Given the description of an element on the screen output the (x, y) to click on. 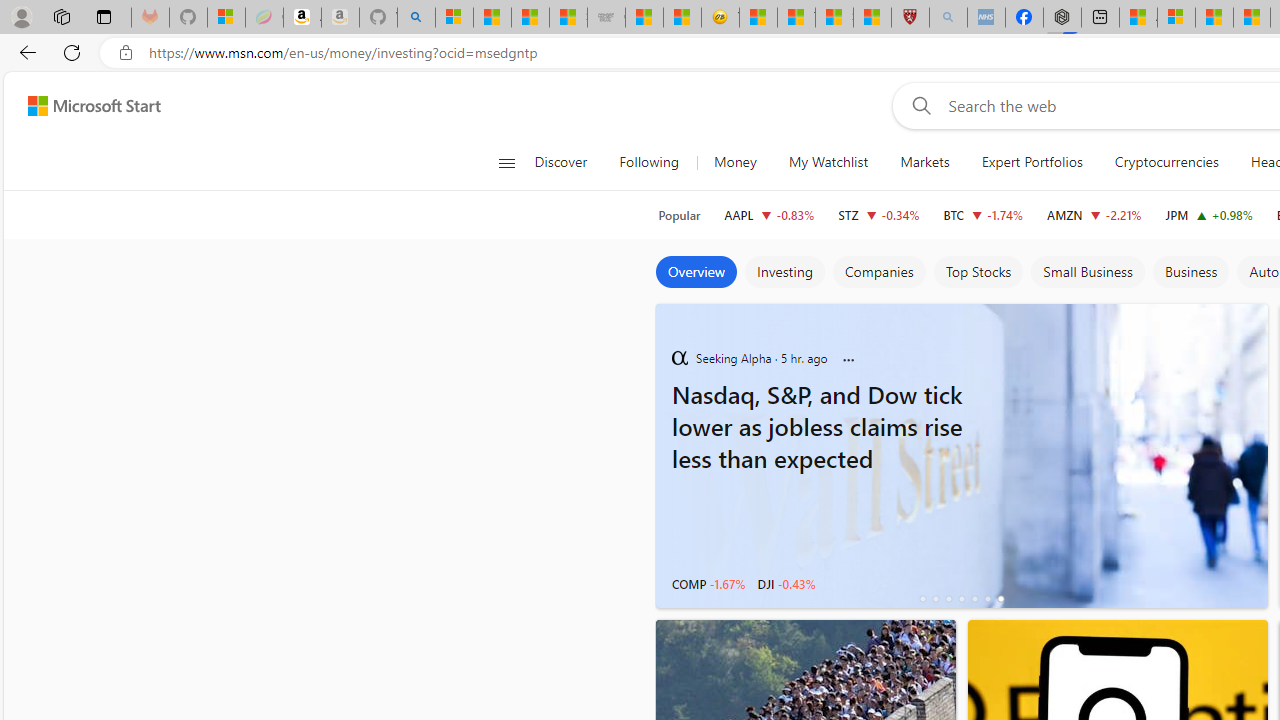
Discover (568, 162)
Science - MSN (833, 17)
Skip to content (86, 105)
My Watchlist (828, 162)
Seeking Alpha (679, 357)
BTC Bitcoin decrease 60,359.26 -1,049.65 -1.74% (982, 214)
12 Popular Science Lies that Must be Corrected (871, 17)
New tab (1099, 17)
Cryptocurrencies (1165, 162)
Markets (925, 162)
Top Stocks (977, 272)
